Given the description of an element on the screen output the (x, y) to click on. 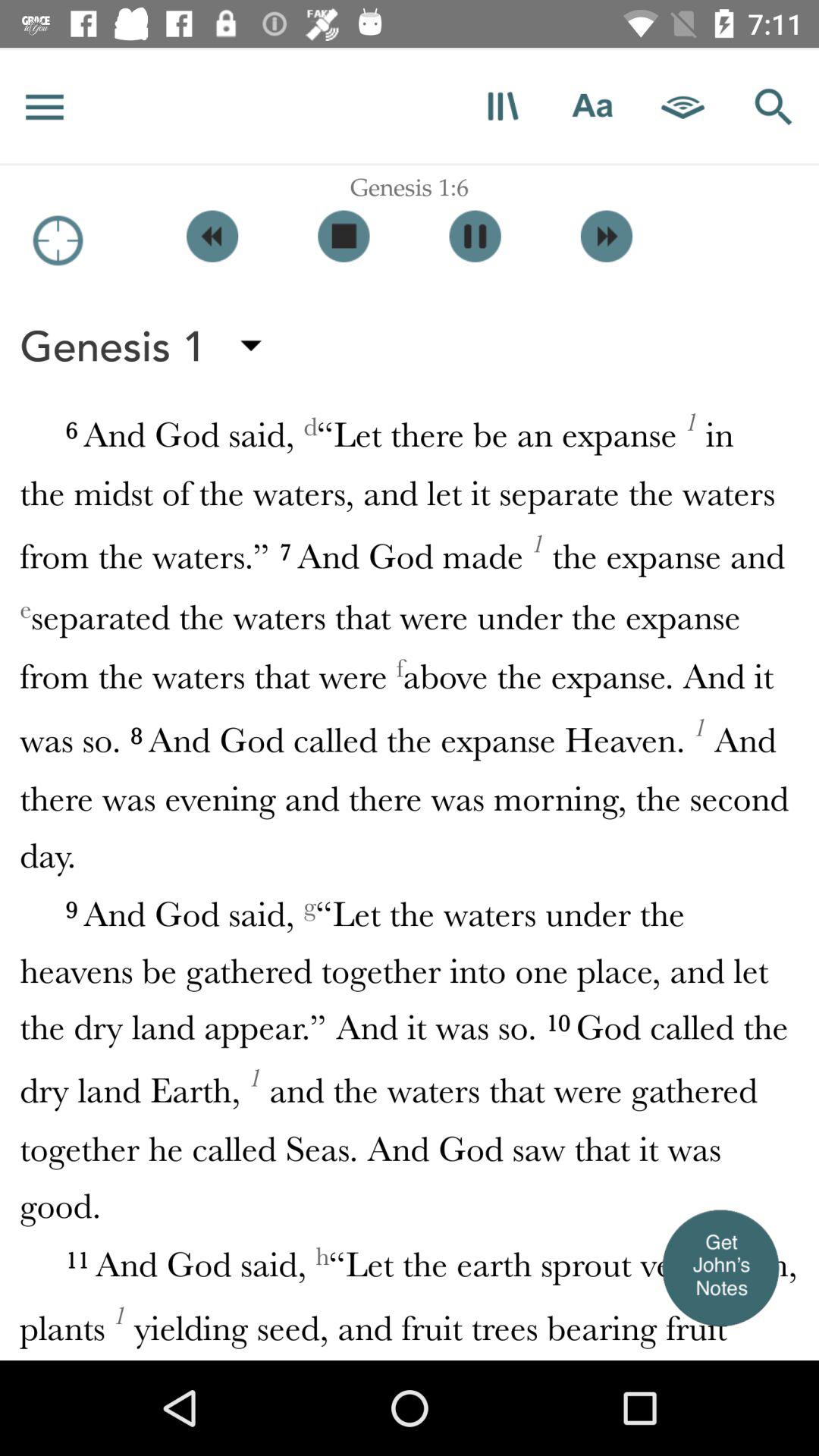
pay next (606, 236)
